Given the description of an element on the screen output the (x, y) to click on. 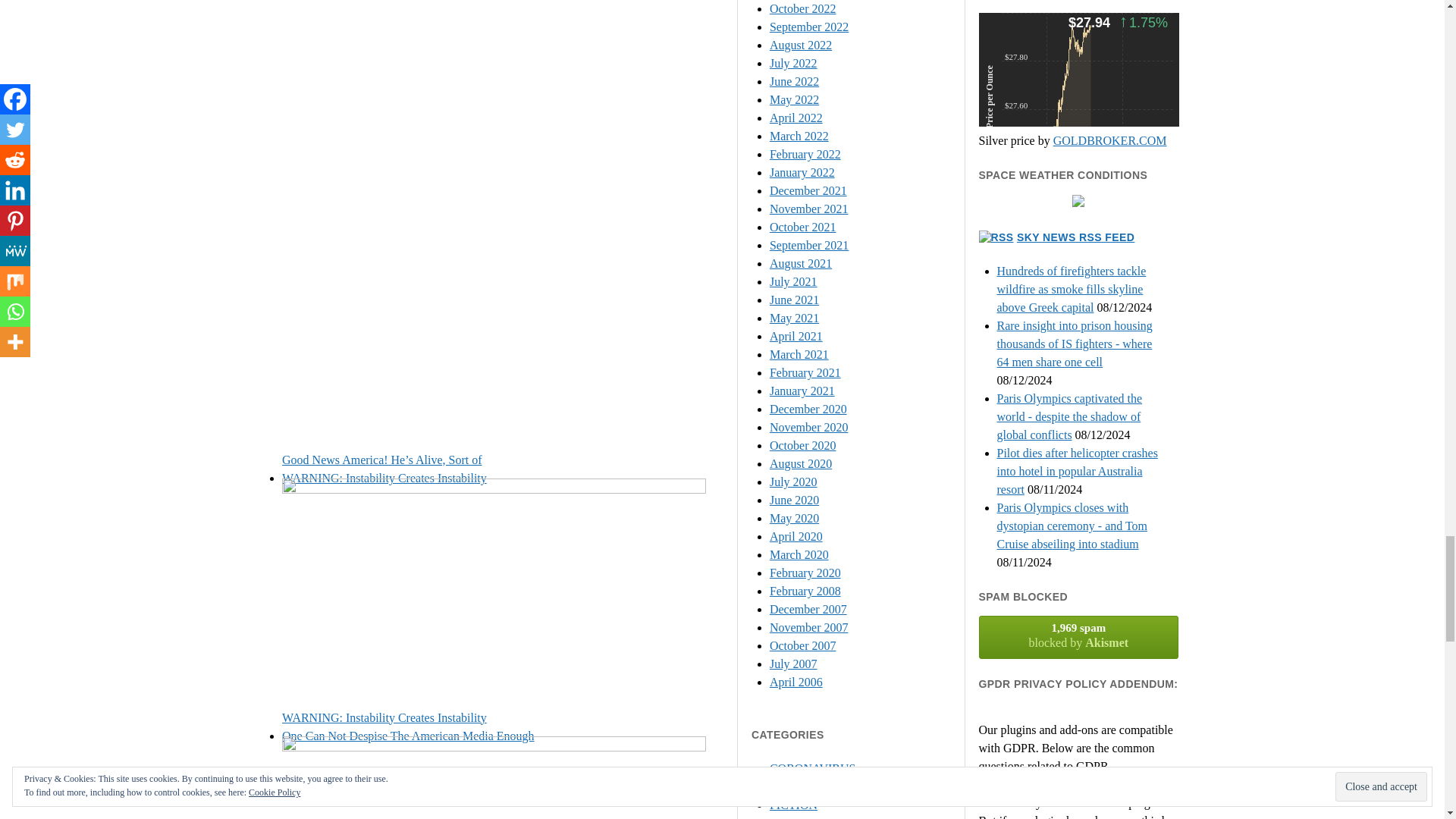
GOLDBROKER.COM (1078, 637)
SKY NEWS RSS FEED (1109, 140)
Click to add Solar-Terrestrial Data to your website! (1075, 236)
